Given the description of an element on the screen output the (x, y) to click on. 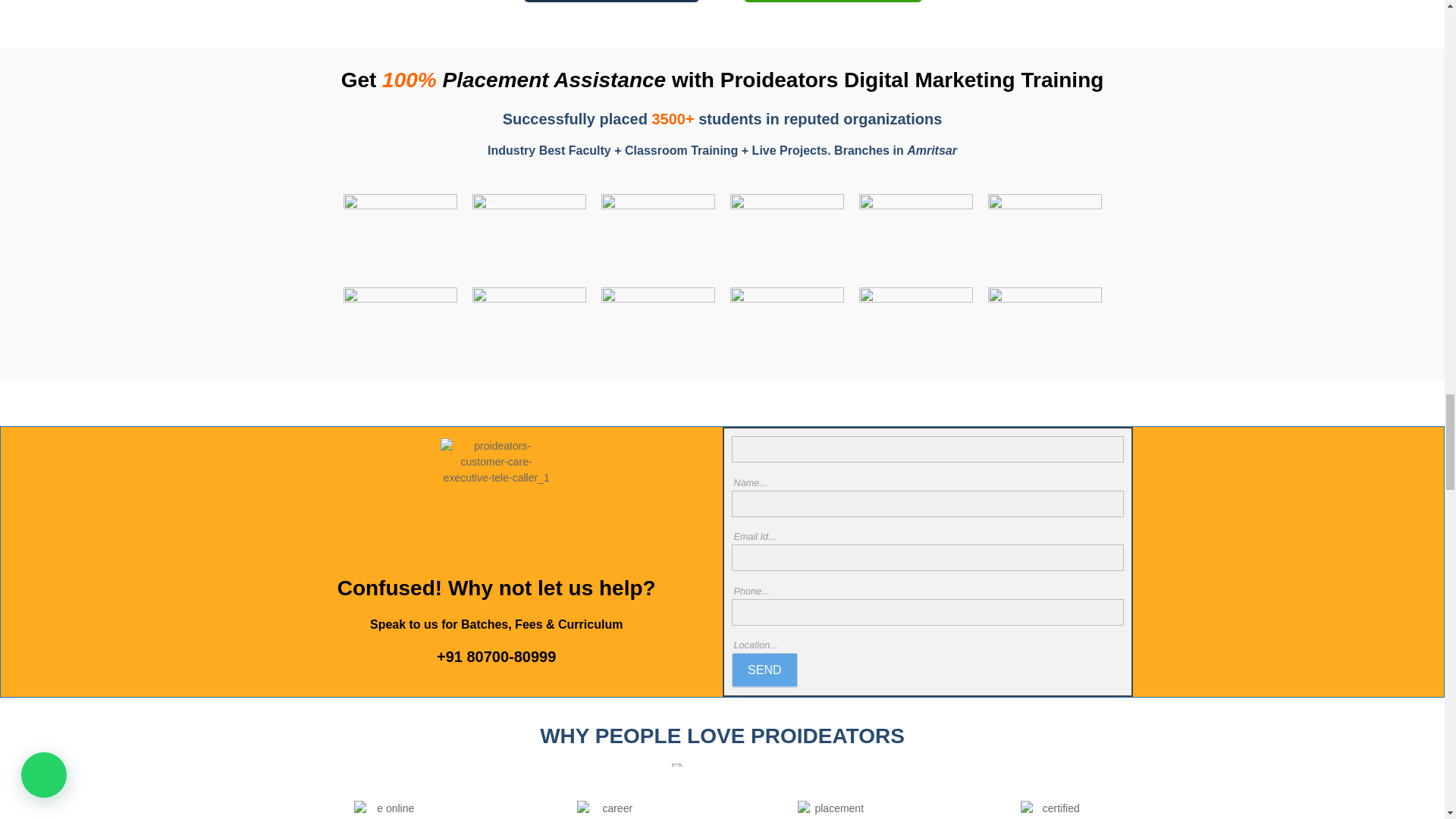
Batch Images (786, 330)
Batch Images (528, 237)
Batch Images (528, 330)
Batch Images (399, 330)
Batch Images (399, 237)
Batch Images (915, 237)
Certificate Distribution Ceremony (1043, 330)
Batch Images (1043, 237)
Batch Images (915, 330)
Batch Images (656, 330)
Batch Images (656, 237)
Batch Images (786, 237)
